Given the description of an element on the screen output the (x, y) to click on. 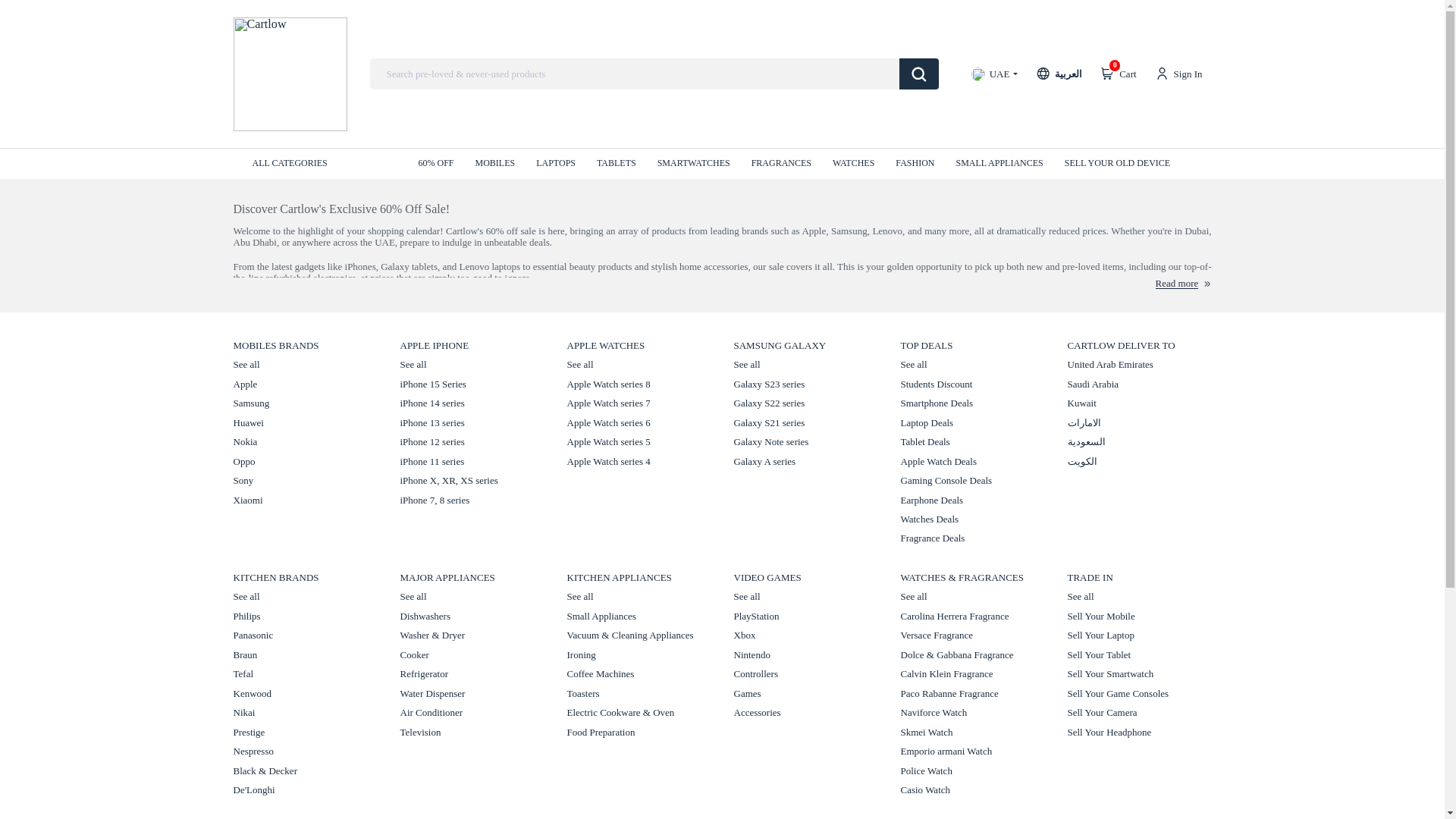
Sign In (1178, 74)
UAE (994, 74)
FRAGRANCES (780, 163)
ALL CATEGORIES (306, 163)
MOBILES (495, 163)
TABLETS (616, 163)
Read more (1183, 283)
FASHION (914, 163)
SMARTWATCHES (694, 163)
SELL YOUR OLD DEVICE (1117, 163)
WATCHES (853, 163)
SMALL APPLIANCES (998, 163)
Cart (1117, 74)
LAPTOPS (555, 163)
